Given the description of an element on the screen output the (x, y) to click on. 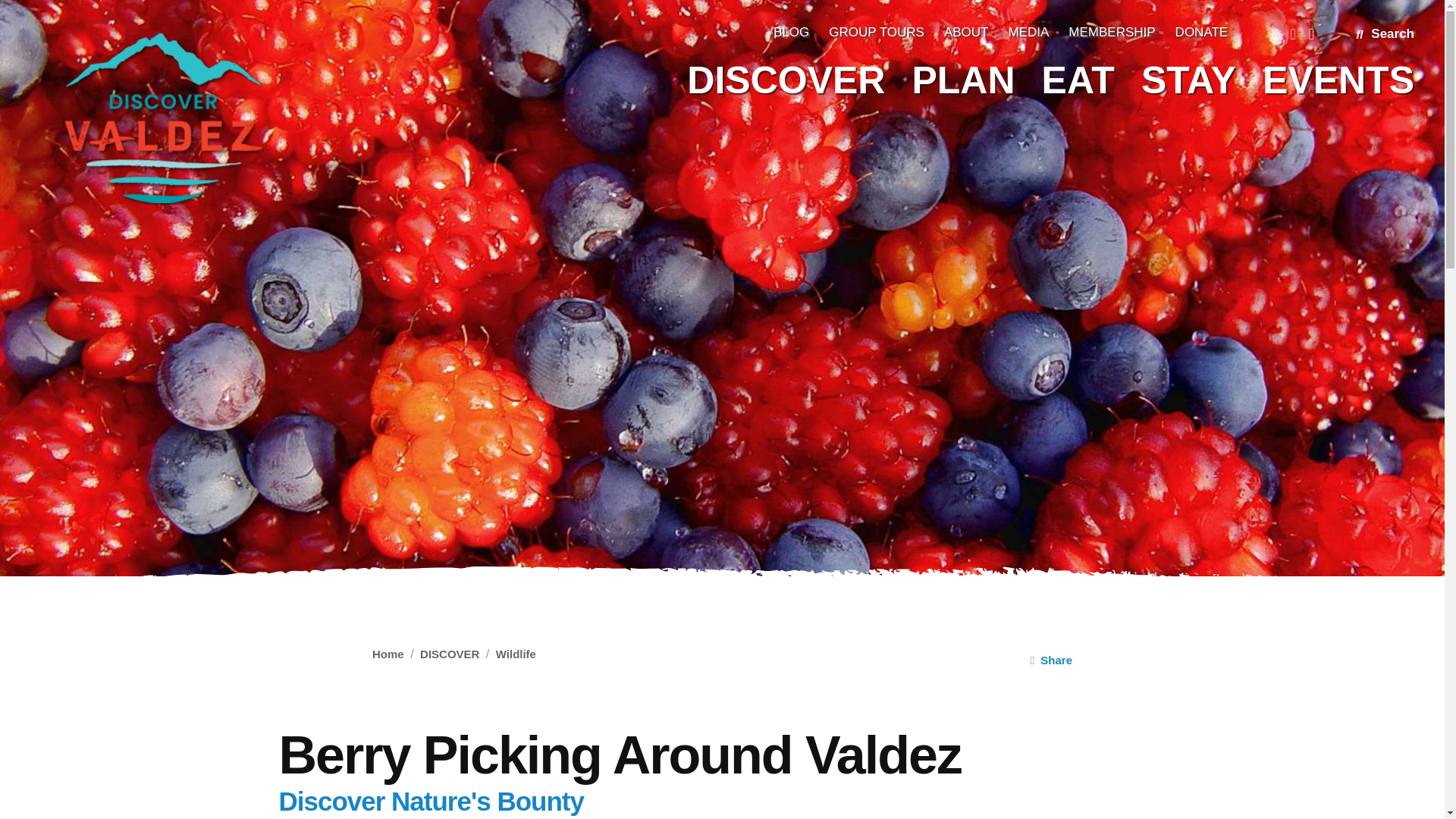
MEMBERSHIP (1111, 32)
MEDIA (1027, 32)
GROUP TOURS (876, 32)
ABOUT (965, 32)
DISCOVER (786, 77)
DONATE (1201, 32)
PLAN (962, 77)
BLOG (791, 32)
Search (1384, 33)
